Given the description of an element on the screen output the (x, y) to click on. 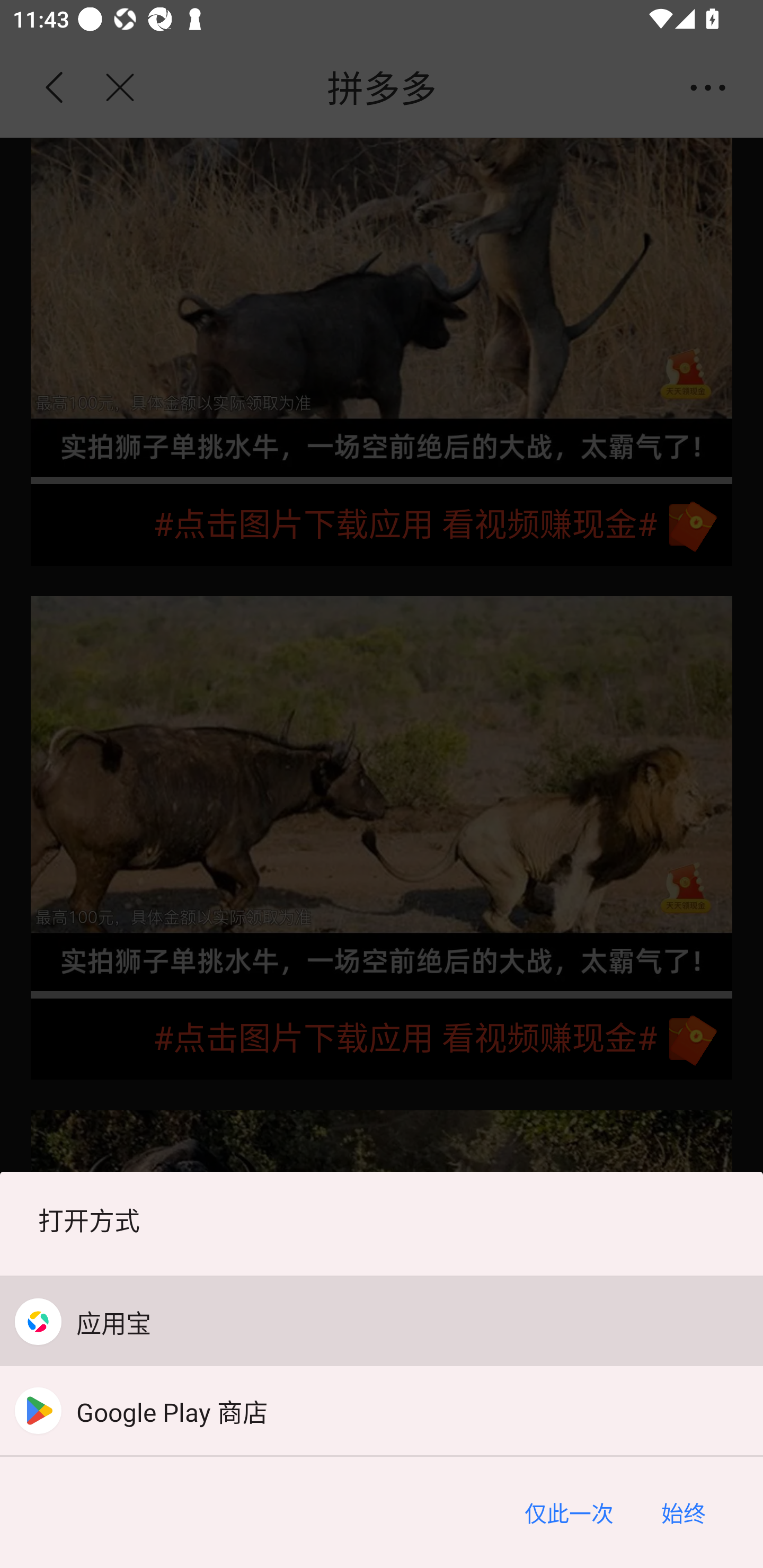
应用宝 (381, 1321)
Google Play 商店 (381, 1410)
仅此一次 (568, 1512)
始终 (683, 1512)
